Given the description of an element on the screen output the (x, y) to click on. 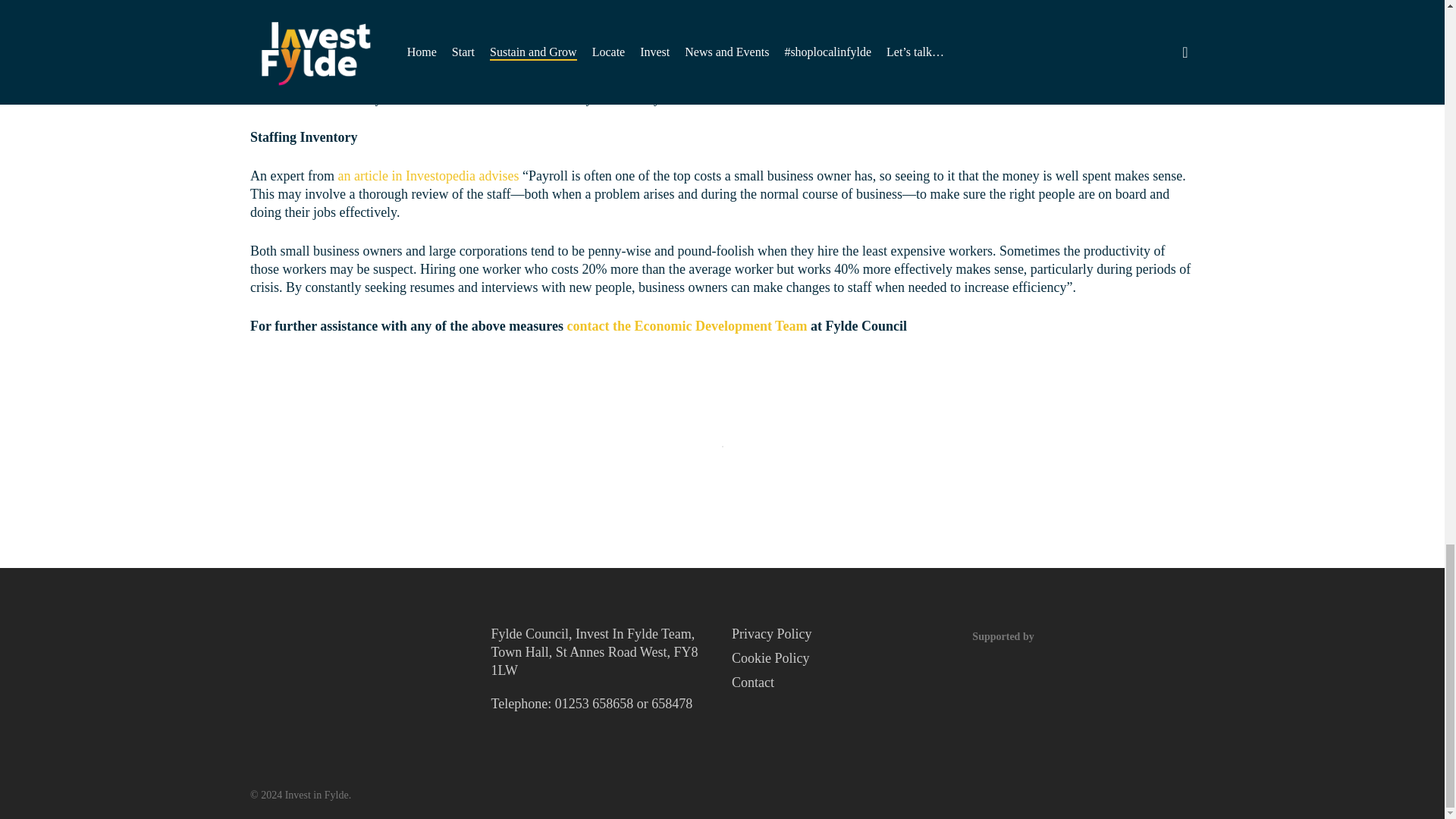
01253 658658 (593, 703)
contact the Economic Development Team (686, 325)
an article in Investopedia advises (427, 175)
658478 (671, 703)
Contact (842, 682)
Privacy Policy (842, 633)
Cookie Policy (842, 658)
